Given the description of an element on the screen output the (x, y) to click on. 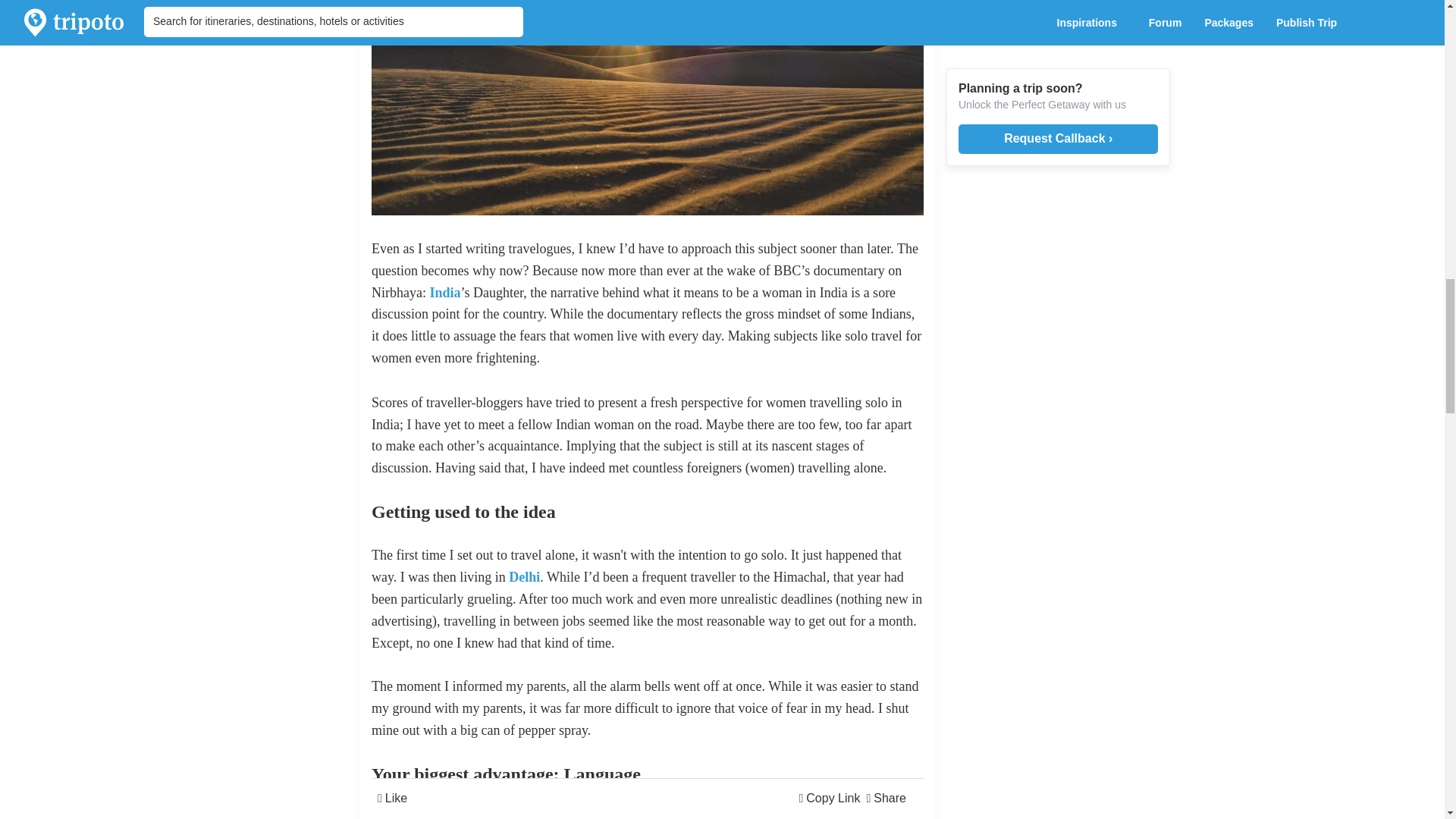
Delhi (524, 576)
India (444, 292)
